Given the description of an element on the screen output the (x, y) to click on. 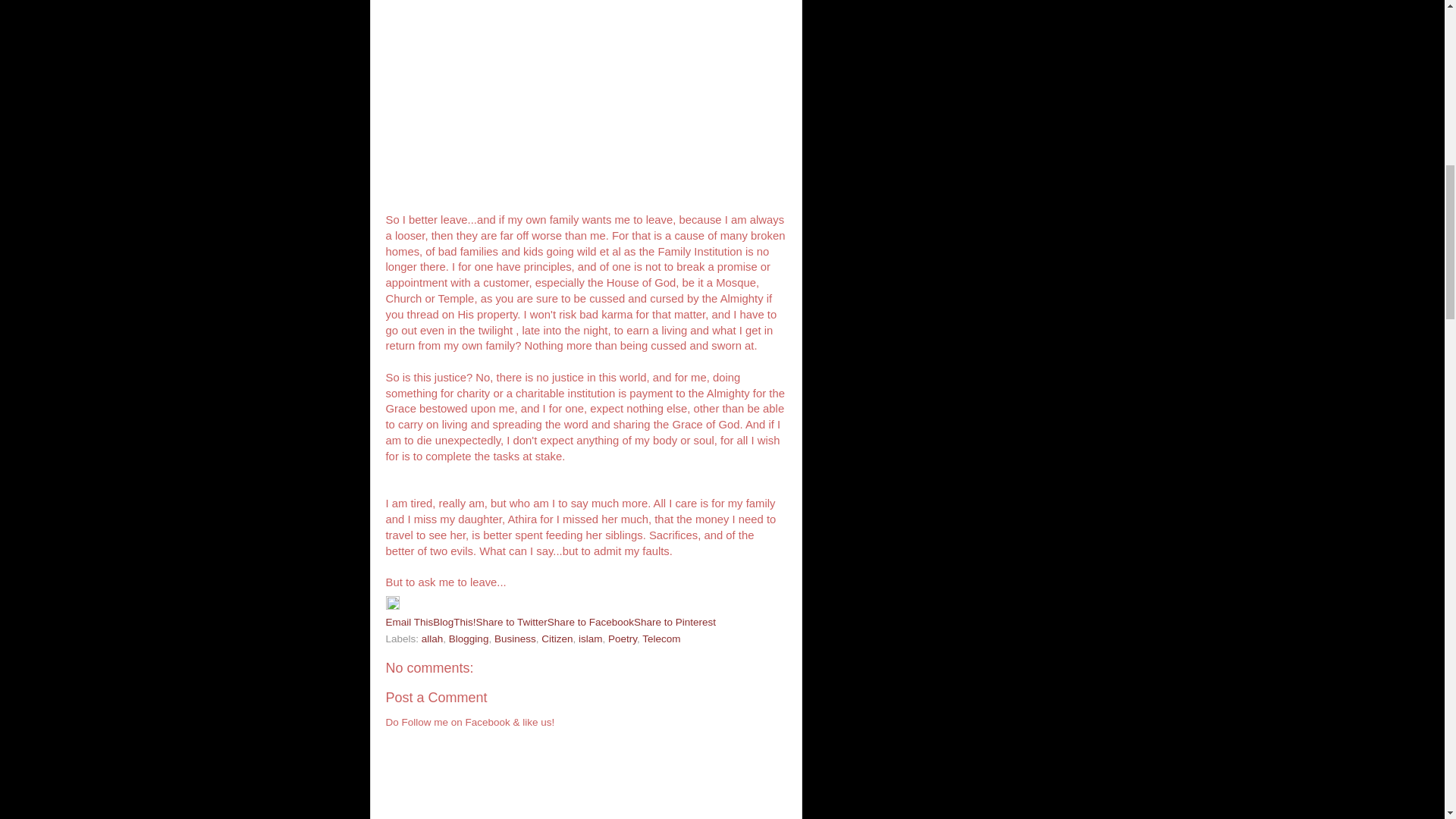
Share to Facebook (590, 622)
Share to Twitter (511, 622)
Edit Post (391, 605)
Citizen (556, 638)
Email This (408, 622)
Blogging (468, 638)
islam (590, 638)
Share to Pinterest (674, 622)
BlogThis! (454, 622)
allah (433, 638)
Telecom (660, 638)
Share to Pinterest (674, 622)
Share to Facebook (590, 622)
Advertisement (585, 90)
Share to Twitter (511, 622)
